Given the description of an element on the screen output the (x, y) to click on. 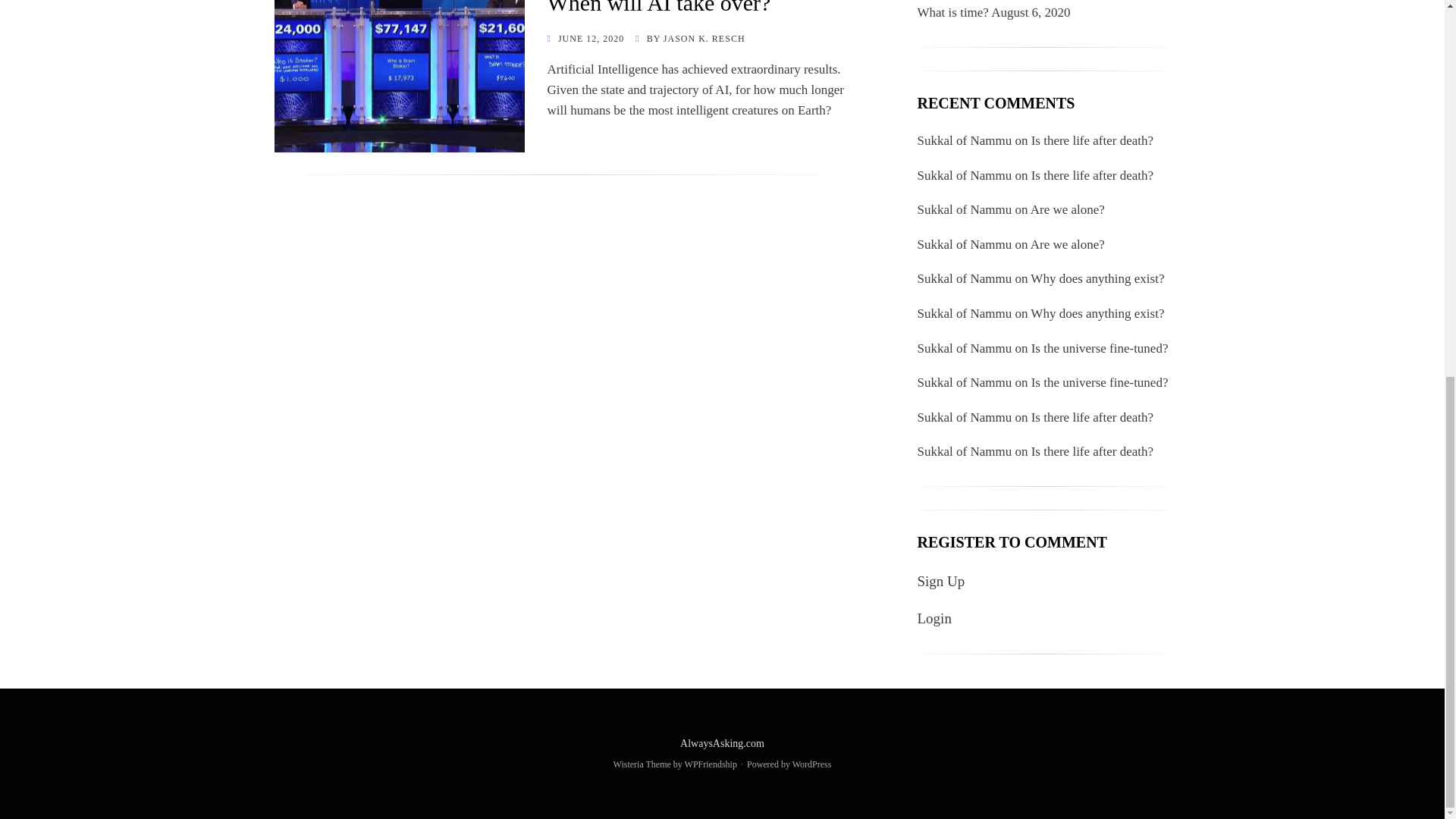
Are we alone? (1067, 209)
JUNE 12, 2020 (585, 38)
Why does anything exist? (1096, 313)
AlwaysAsking.com (721, 743)
Is there life after death? (1091, 175)
Is there life after death? (1091, 417)
When will AI take over? (659, 7)
Why does anything exist? (1096, 278)
Is the universe fine-tuned? (1099, 382)
What is time? (952, 11)
Login (934, 618)
WPFriendship (710, 764)
Is there life after death? (1091, 451)
Sign Up (941, 580)
Are we alone? (1067, 244)
